Given the description of an element on the screen output the (x, y) to click on. 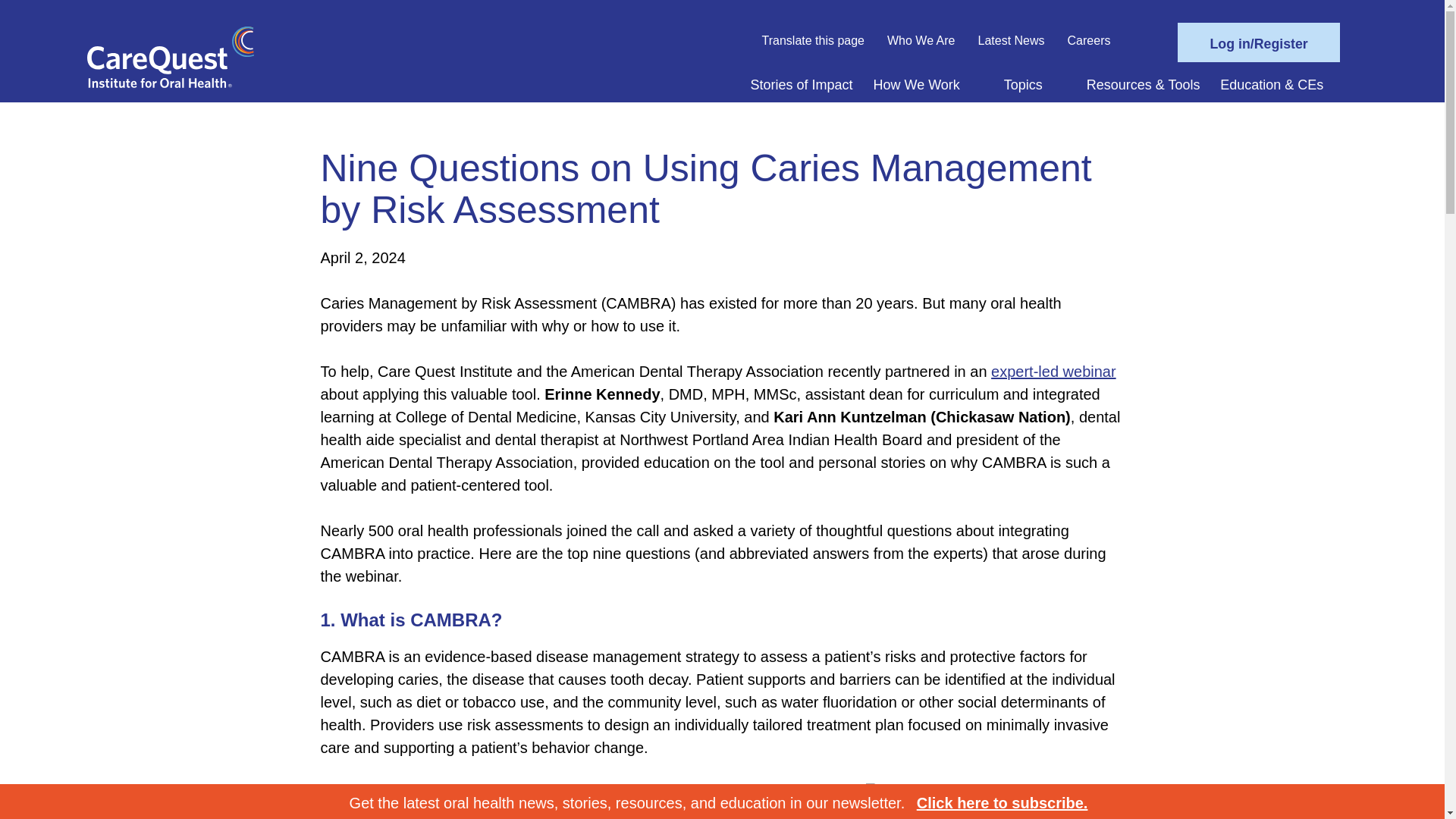
Click here to subscribe. (1002, 802)
expert-led webinar (1053, 371)
Latest News (1011, 40)
CareQuest Institute Home Page (170, 82)
Topics (1023, 84)
Who We Are (921, 40)
Stories of Impact (802, 84)
Translate this page (813, 40)
How We Work (915, 84)
Careers (1089, 40)
